Given the description of an element on the screen output the (x, y) to click on. 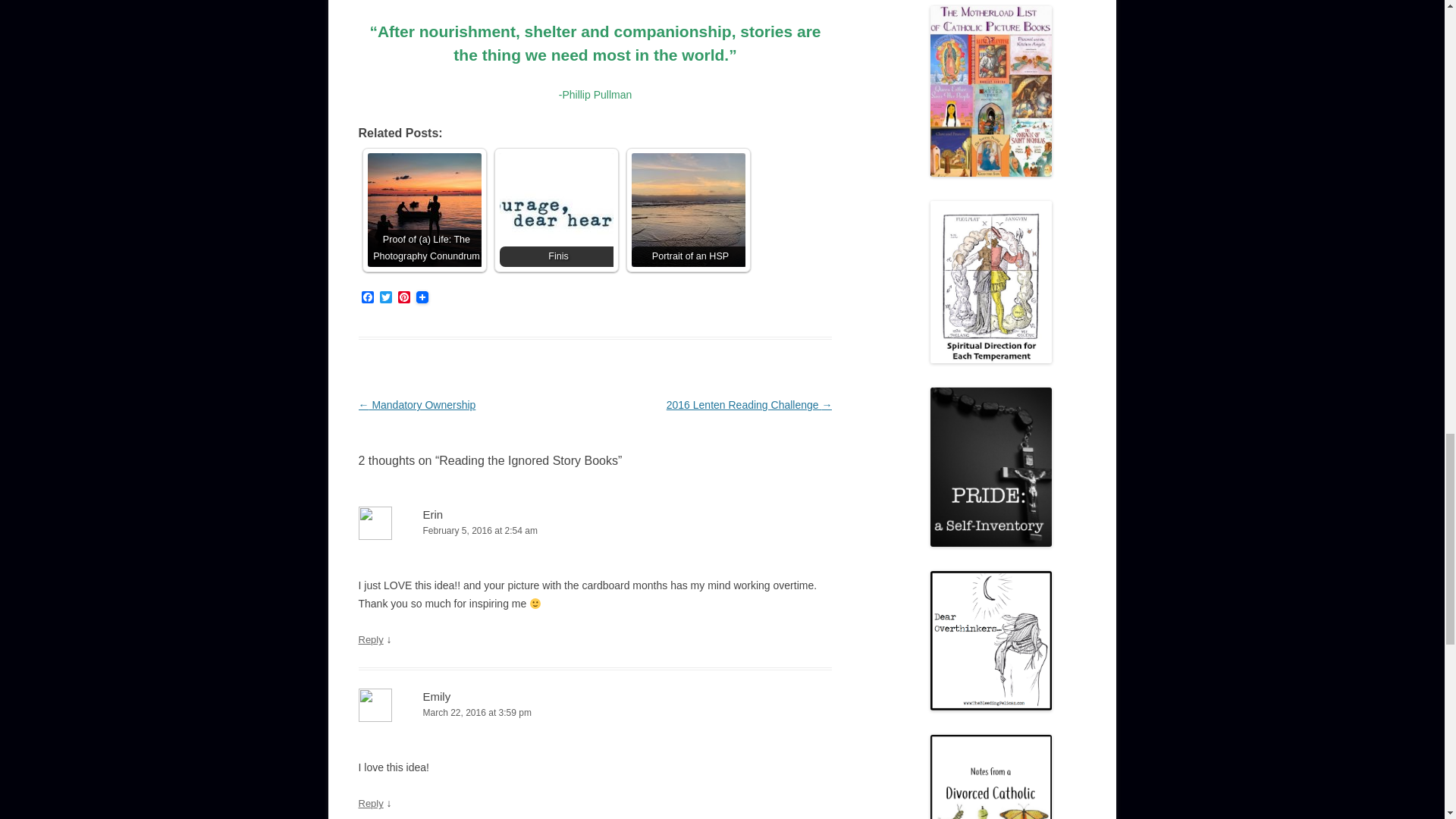
Pinterest (403, 298)
March 22, 2016 at 3:59 pm (594, 713)
Twitter (384, 298)
Portrait of an HSP (687, 209)
Twitter (384, 298)
Facebook (366, 298)
Reply (370, 803)
Finis (555, 209)
Portrait of an HSP (687, 209)
February 5, 2016 at 2:54 am (594, 530)
Erin (433, 513)
Reply (370, 639)
Finis (555, 209)
Facebook (366, 298)
Pinterest (403, 298)
